Given the description of an element on the screen output the (x, y) to click on. 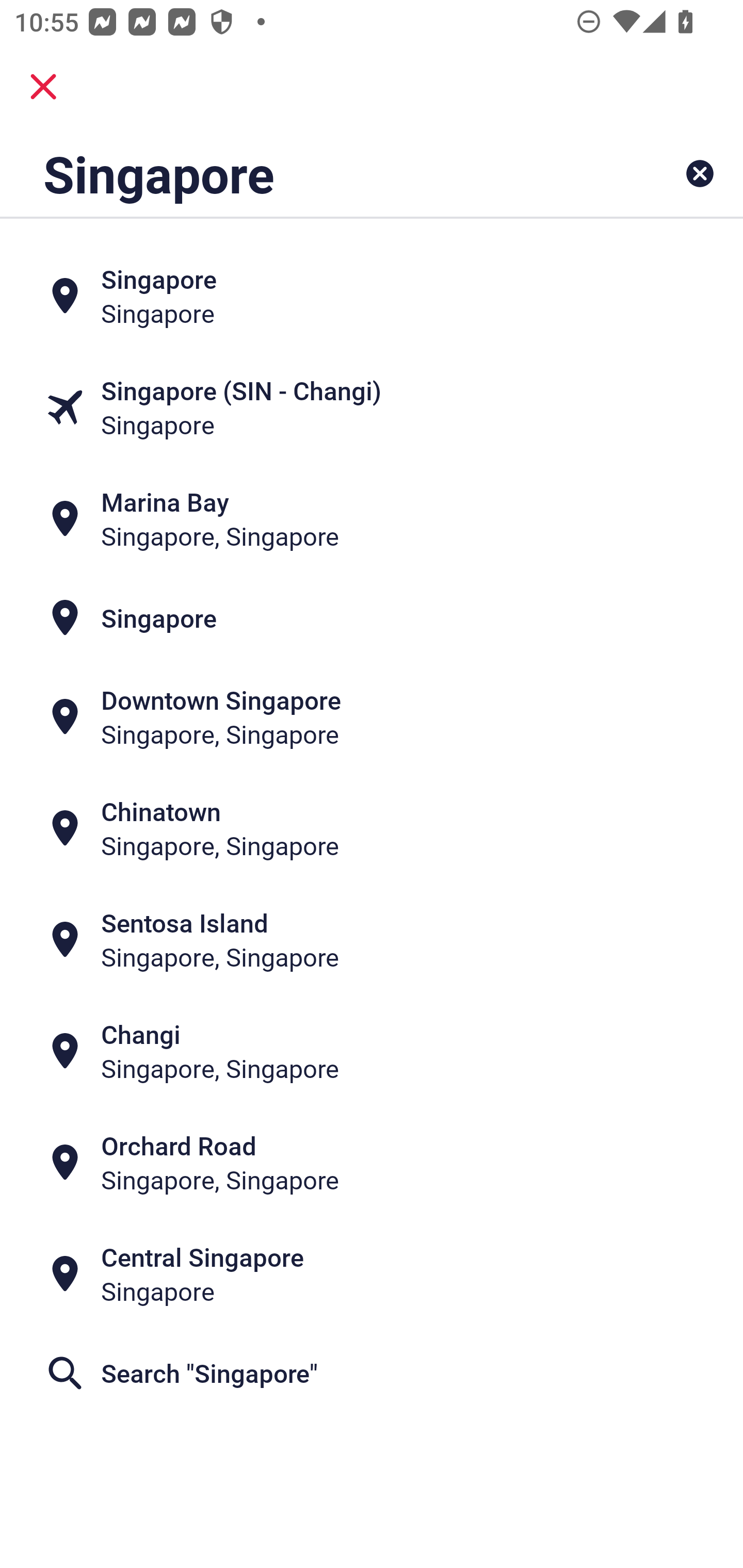
close. (43, 86)
Clear (699, 173)
Singapore (306, 173)
Singapore (371, 295)
Singapore (SIN - Changi) Singapore (371, 406)
Marina Bay Singapore, Singapore (371, 517)
Singapore (371, 617)
Downtown Singapore Singapore, Singapore (371, 717)
Chinatown Singapore, Singapore (371, 828)
Sentosa Island Singapore, Singapore (371, 939)
Changi Singapore, Singapore (371, 1051)
Orchard Road Singapore, Singapore (371, 1162)
Central Singapore Singapore (371, 1273)
Search "Singapore" (371, 1372)
